Given the description of an element on the screen output the (x, y) to click on. 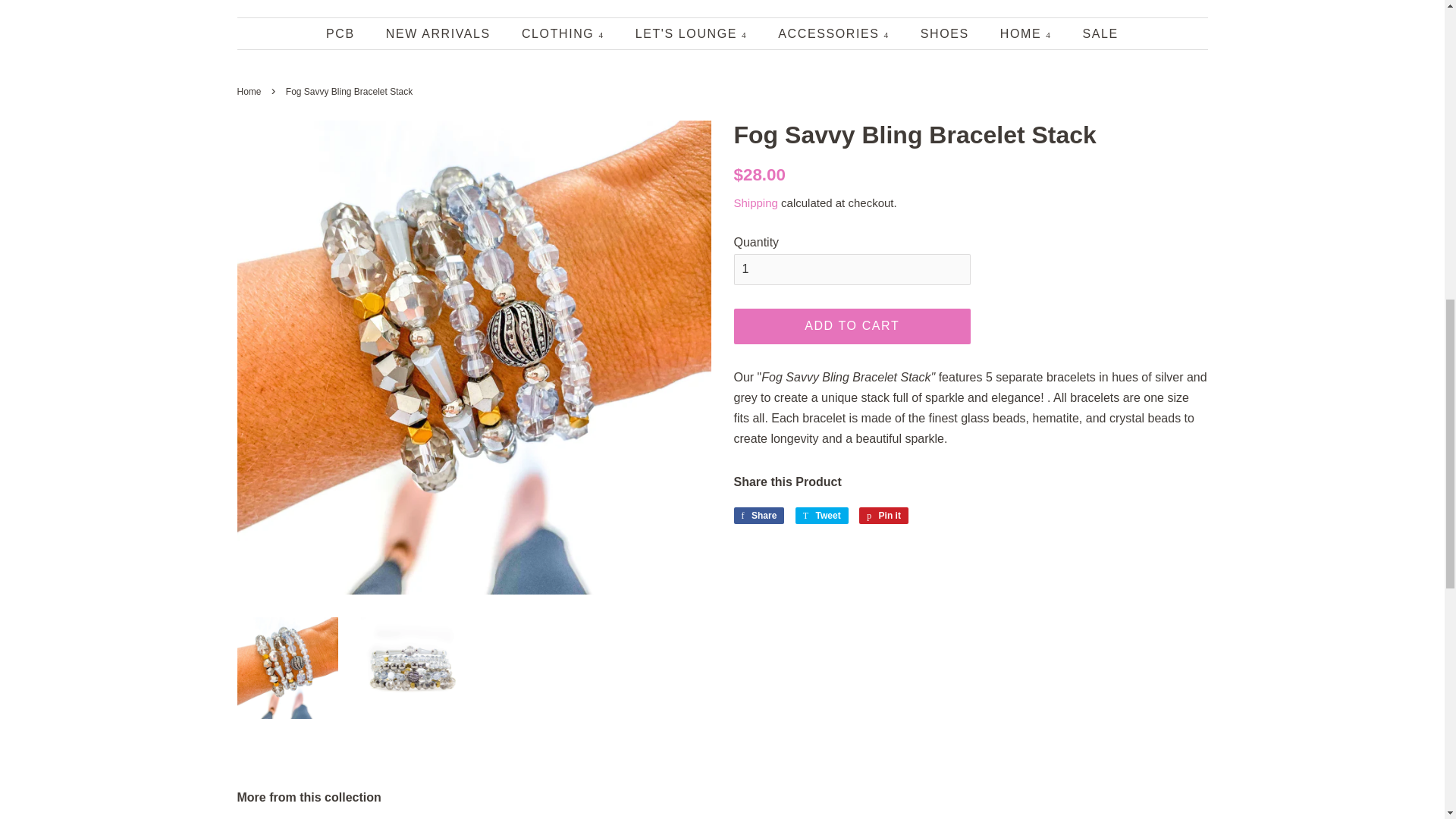
Back to the frontpage (249, 91)
Tweet on Twitter (821, 515)
Share on Facebook (758, 515)
1 (852, 269)
Pin on Pinterest (883, 515)
